Given the description of an element on the screen output the (x, y) to click on. 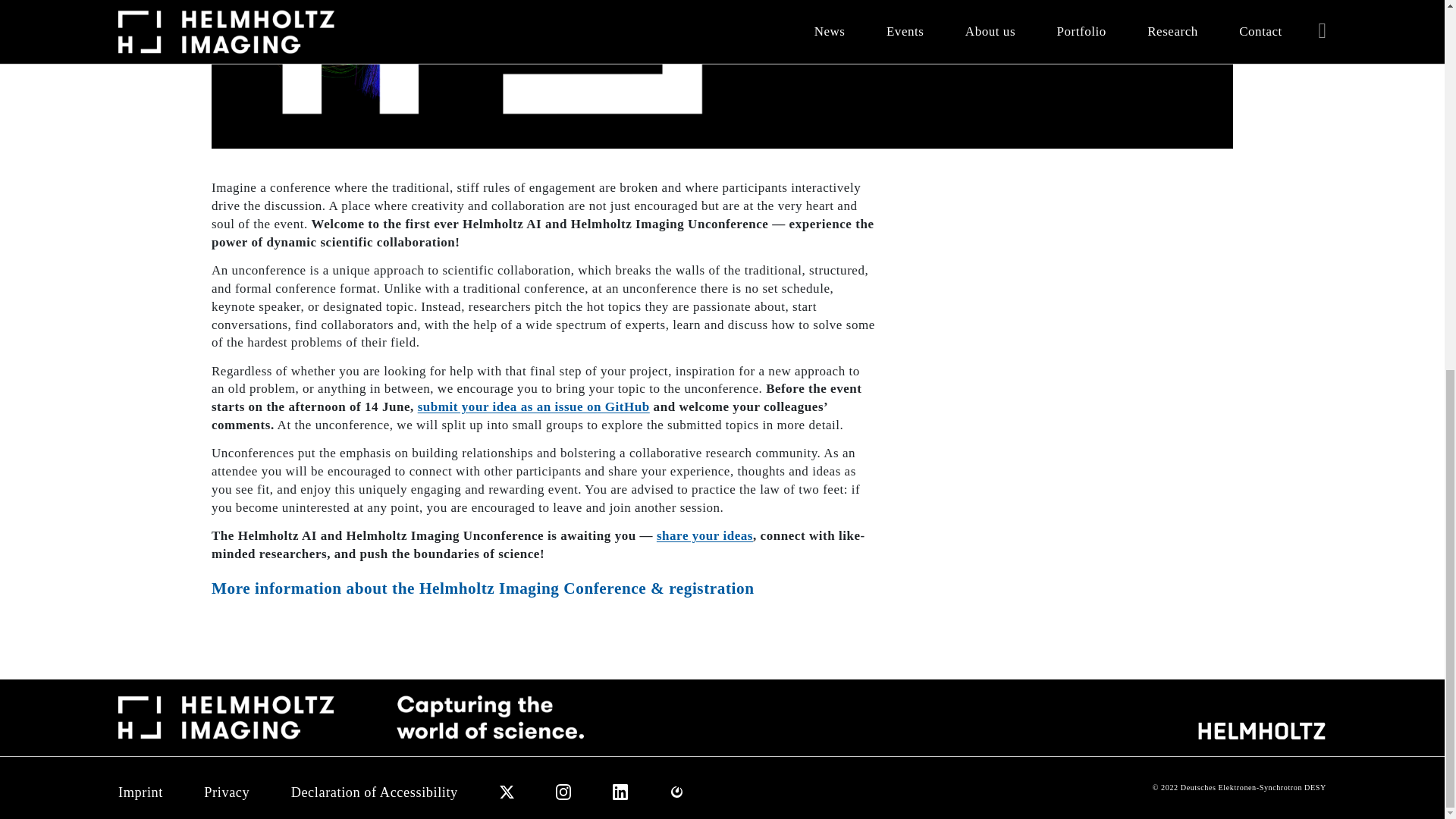
Privacy (225, 792)
share your ideas (704, 535)
Declaration of Accessibility (374, 792)
submit your idea as an issue on GitHub (533, 406)
Imprint (140, 792)
